Given the description of an element on the screen output the (x, y) to click on. 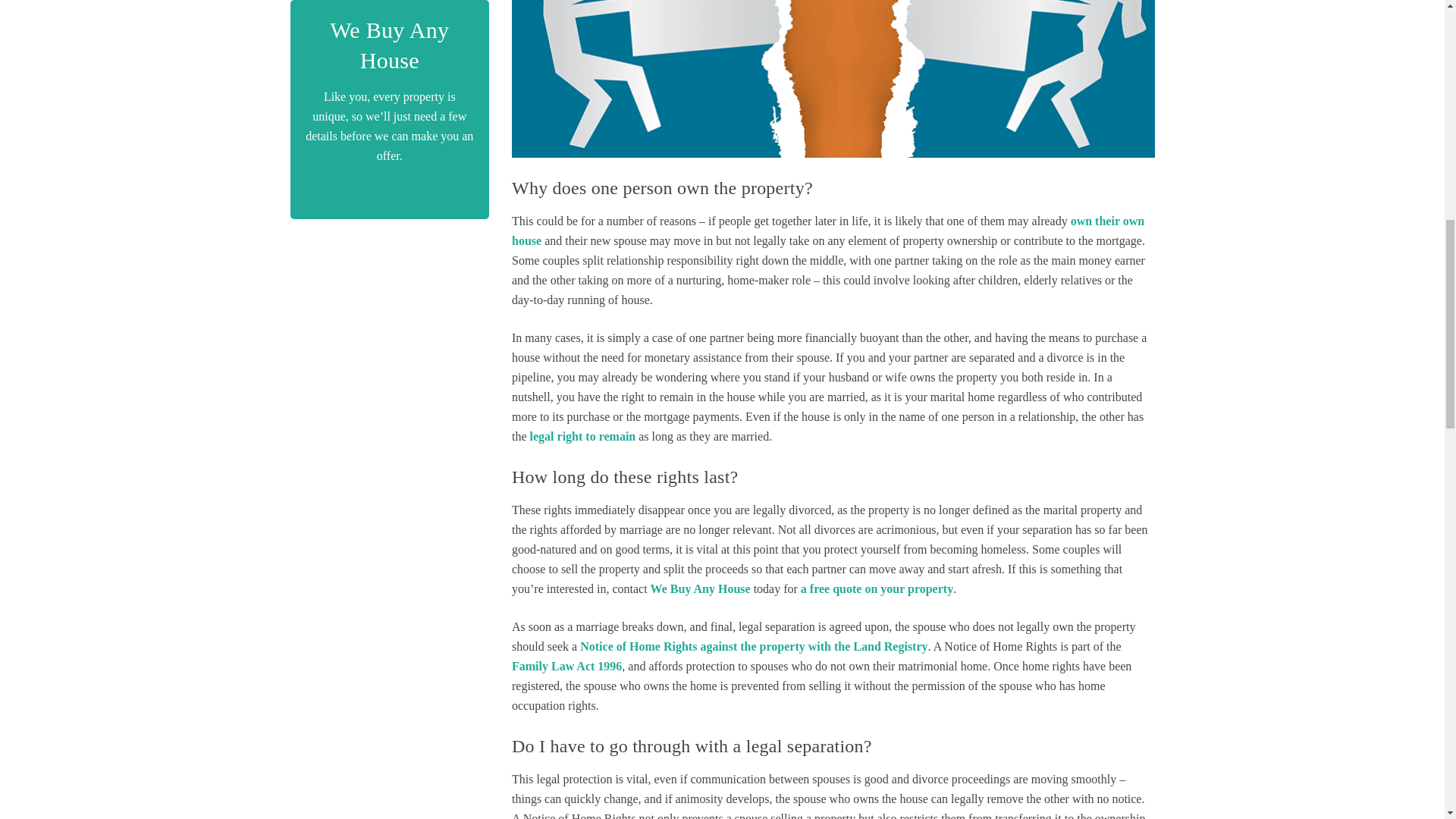
legal right to remain (581, 436)
Family Law Act 1996 (566, 666)
We Buy Any House (700, 588)
own their own house (828, 230)
a free quote on your property (876, 588)
